Given the description of an element on the screen output the (x, y) to click on. 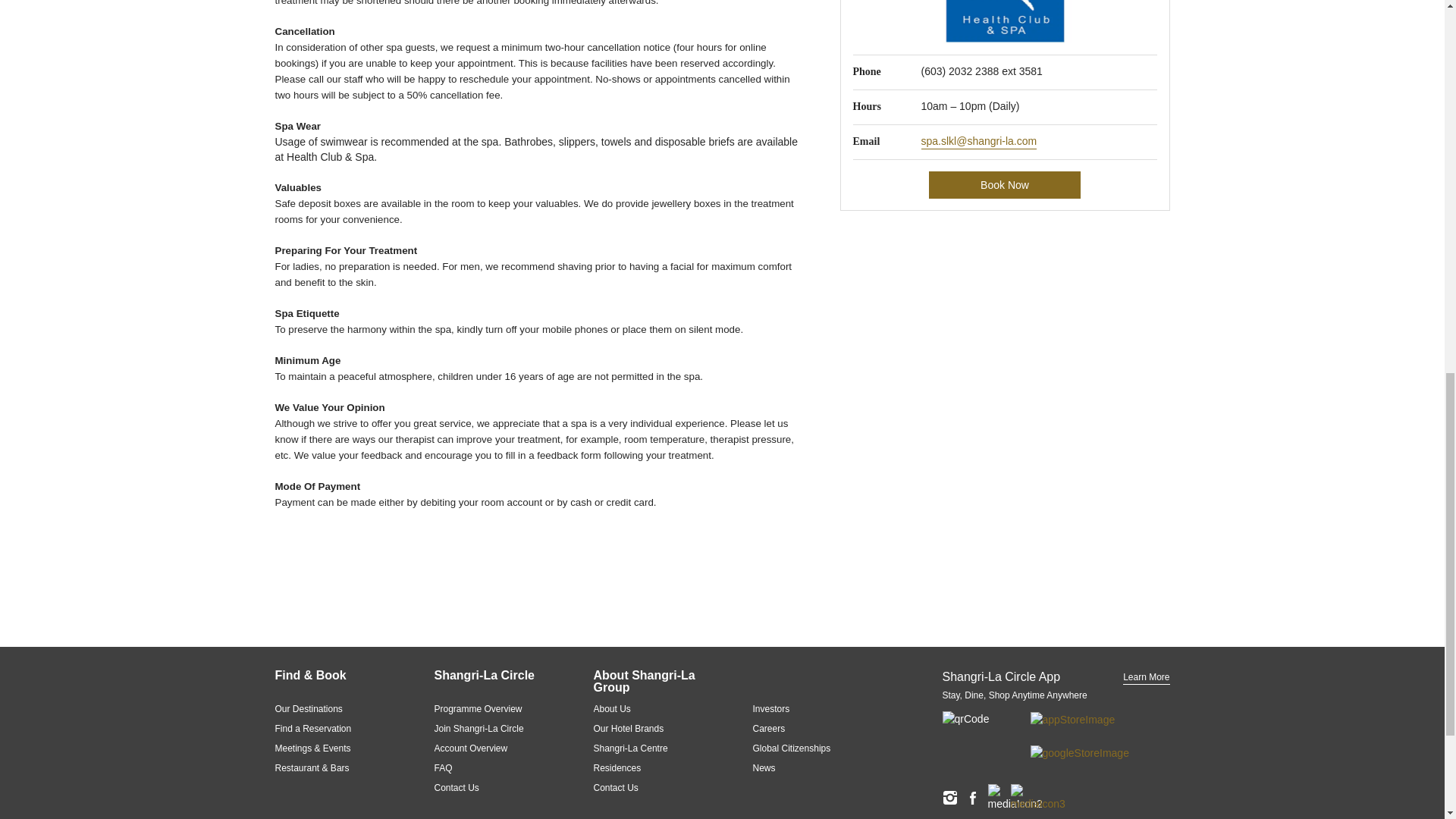
Careers (812, 728)
FAQ (493, 767)
Our Destinations (335, 708)
Our Hotel Brands (653, 728)
Book Now (1004, 185)
Investors (812, 708)
Learn More (1145, 677)
Contact Us (653, 787)
Global Citizenships (812, 748)
Shangri-La Centre (653, 748)
About Us (653, 708)
Programme Overview (493, 708)
Join Shangri-La Circle (493, 728)
News (812, 767)
Account Overview (493, 748)
